Given the description of an element on the screen output the (x, y) to click on. 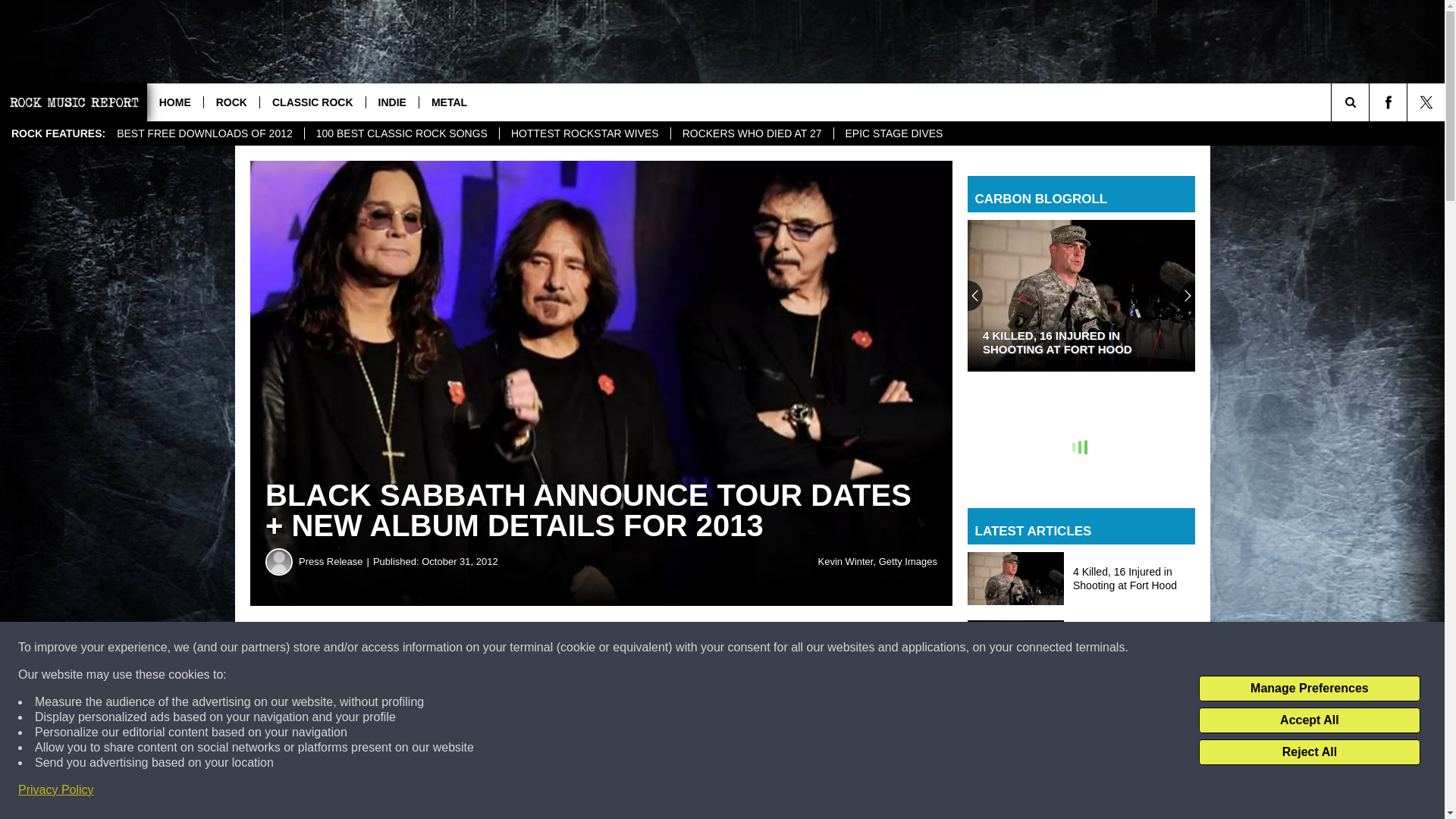
Manage Preferences (1309, 688)
Share on Twitter (741, 647)
Press Release (335, 561)
BEST FREE DOWNLOADS OF 2012 (204, 133)
SEARCH (1371, 102)
Ozzy Osbourne (701, 786)
Visit us on Facebook (1388, 102)
SHARE ON FACEBOOK (460, 647)
INDIE (392, 102)
ROCK (231, 102)
SHARE ON TWITTER (741, 647)
100 BEST CLASSIC ROCK SONGS (401, 133)
Accept All (1309, 720)
SEARCH (1371, 102)
METAL (449, 102)
